Given the description of an element on the screen output the (x, y) to click on. 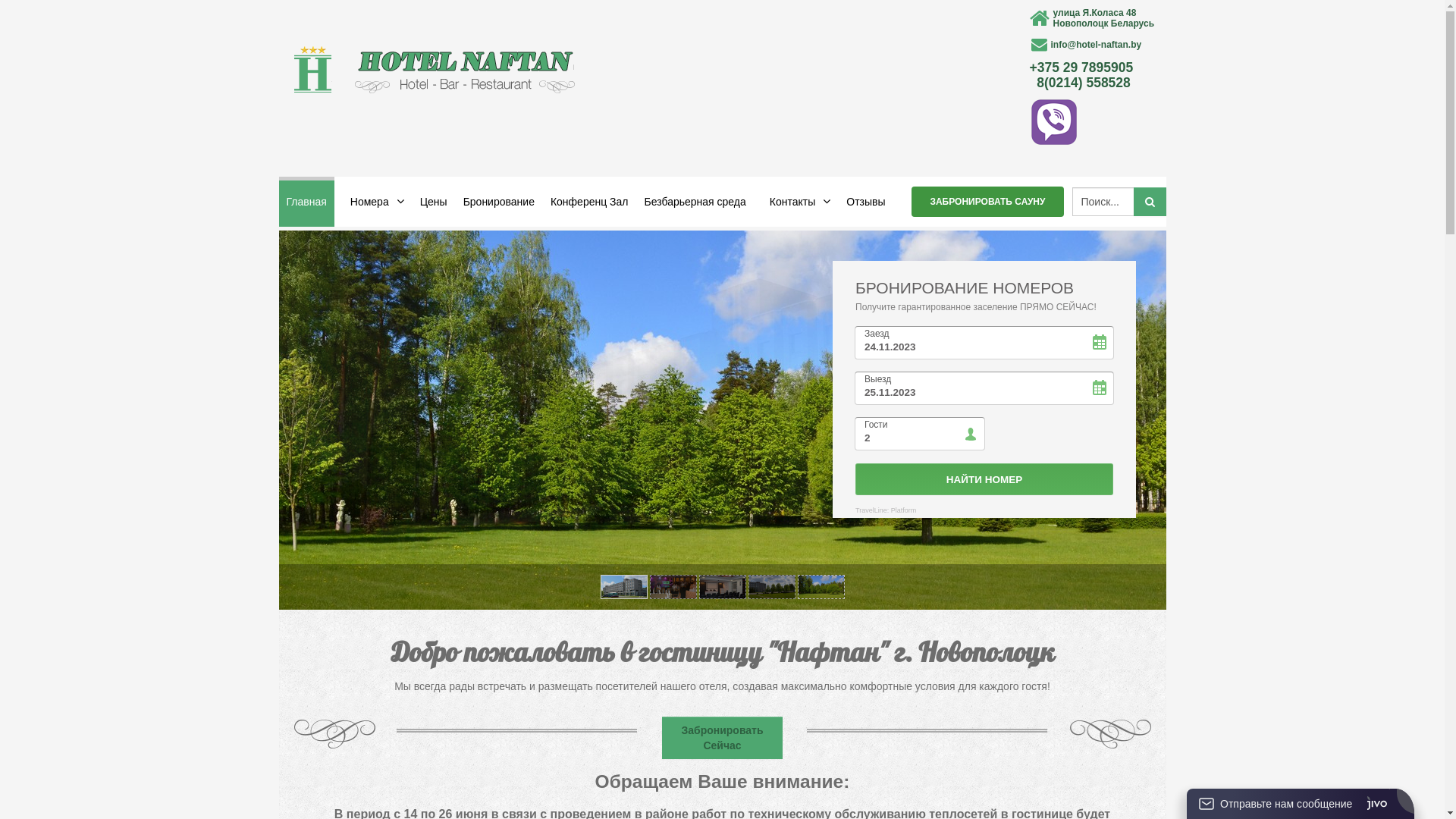
Slide item 2 Element type: hover (673, 586)
Slide item 5 Element type: hover (820, 586)
Slide item 1 Element type: hover (623, 586)
info@hotel-naftan.by Element type: text (1096, 44)
8(0214) 558528 Element type: text (1083, 82)
Slide item 4 Element type: hover (771, 586)
+375 29 7895905 Element type: text (1081, 67)
Slide item 3 Element type: hover (721, 586)
